Given the description of an element on the screen output the (x, y) to click on. 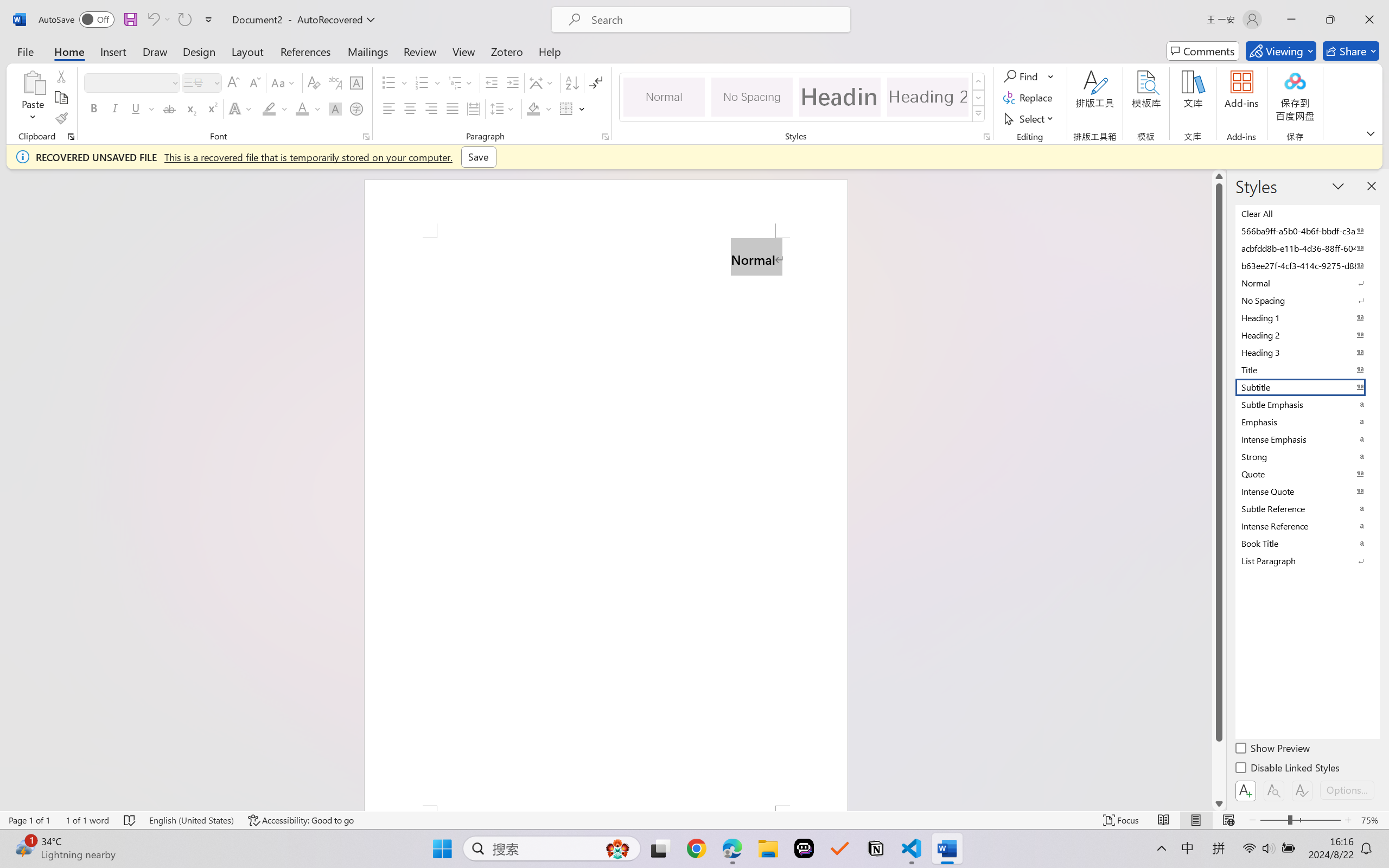
Heading 1 (839, 96)
Center (409, 108)
Page down (1219, 768)
Intense Reference (1306, 525)
Can't Repeat (184, 19)
Page 1 content (605, 521)
Multilevel List (461, 82)
Select (1030, 118)
Class: NetUIScrollBar (1219, 489)
Copy (60, 97)
